Given the description of an element on the screen output the (x, y) to click on. 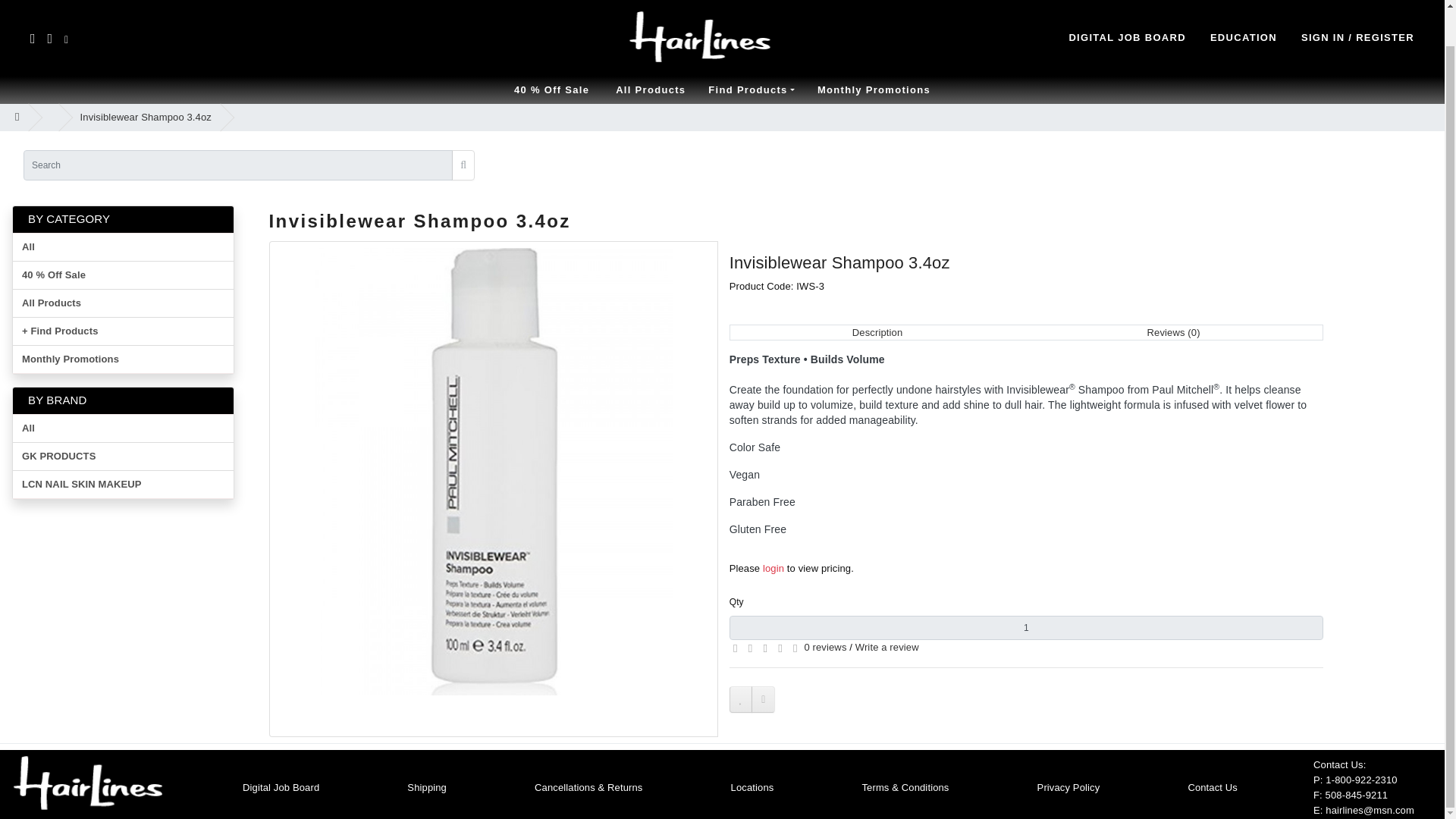
DIGITAL JOB BOARD (1127, 37)
EDUCATION (1243, 37)
All Products (650, 89)
Find Products (751, 89)
1 (1026, 627)
